Given the description of an element on the screen output the (x, y) to click on. 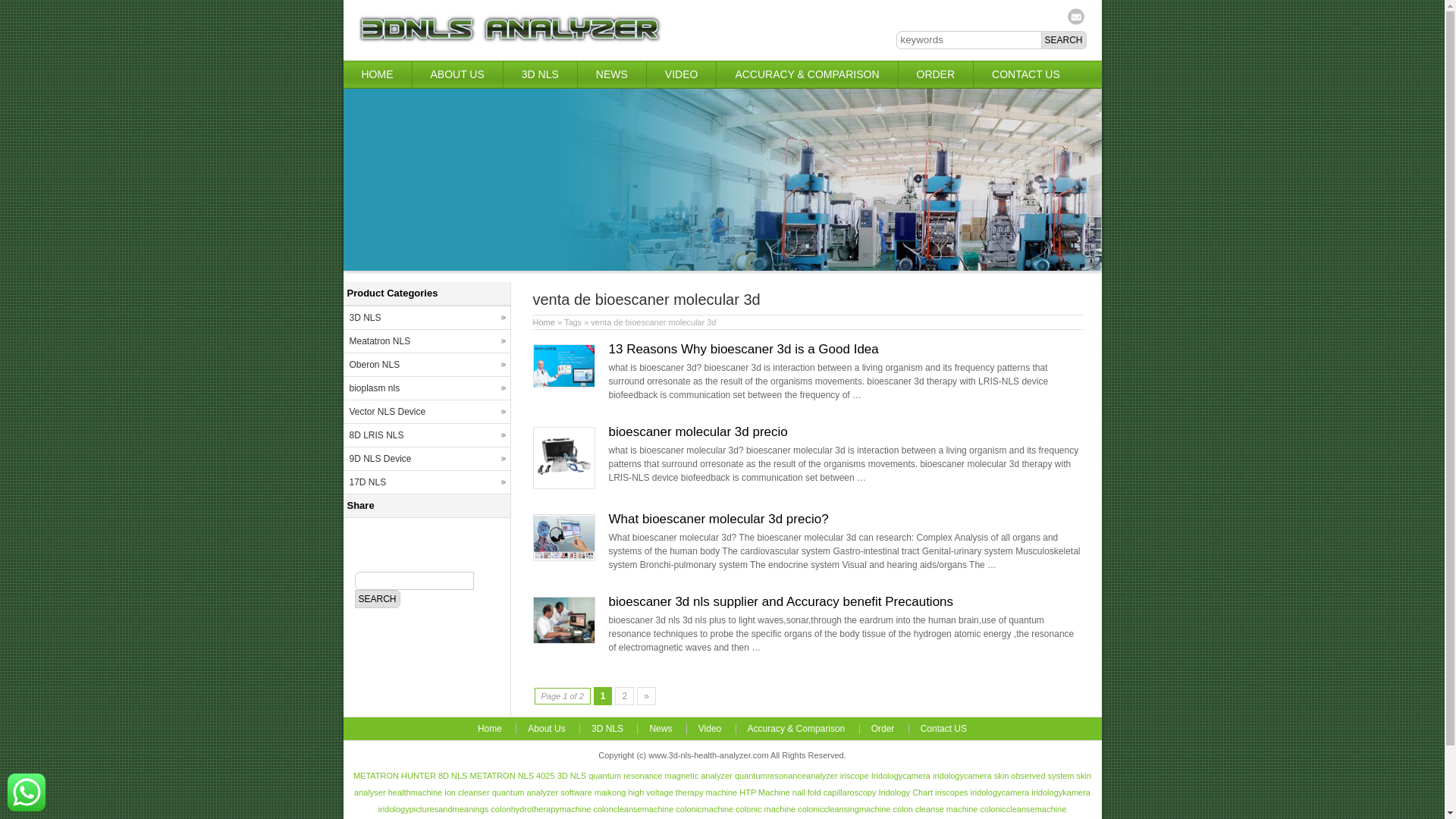
News Element type: text (660, 728)
HOME Element type: text (376, 74)
colonic machine Element type: text (765, 808)
Search Element type: text (377, 598)
2 Element type: text (624, 696)
nail fold capillaroscopy Element type: text (834, 792)
Iridologycamera Element type: text (900, 775)
colonicmachine Element type: text (704, 808)
Home Element type: text (543, 321)
bioescaner 3d nls supplier and Accuracy benefit Precautions Element type: text (780, 601)
skin analyser Element type: text (722, 784)
About Us Element type: text (545, 728)
colonhydrotherapymachine Element type: text (540, 808)
WhatsApp us Element type: hover (26, 792)
coloncleansemachine Element type: text (633, 808)
coloniccleansemachine Element type: text (1023, 808)
bioplasm nls Element type: text (425, 387)
METATRON HUNTER Element type: text (394, 775)
Home Element type: text (489, 728)
bioescaner molecular 3d precio Element type: text (697, 431)
bioescaner 3d nls supplier and Accuracy benefit Precautions Element type: hover (563, 640)
Video Element type: text (709, 728)
13 Reasons Why bioescaner 3d is a Good Idea Element type: text (743, 349)
ACCURACY & COMPARISON Element type: text (806, 74)
iridologycamera Element type: text (961, 775)
high voltage therapy machine Element type: text (682, 792)
Accuracy & Comparison Element type: text (795, 728)
colon cleanse machine Element type: text (935, 808)
quantum analyzer software Element type: text (542, 792)
iriscope Element type: text (854, 775)
17D NLS Element type: text (425, 481)
3D NLS Element type: text (571, 775)
Order Element type: text (882, 728)
Meatatron NLS Element type: text (425, 340)
ABOUT US Element type: text (457, 74)
ORDER Element type: text (934, 74)
iriscopes Element type: text (951, 792)
8D LRIS NLS Element type: text (425, 434)
iridologykamera Element type: text (1060, 792)
Iridology Chart Element type: text (905, 792)
Vector NLS Device Element type: text (425, 411)
VIDEO Element type: text (681, 74)
Search Element type: text (1062, 40)
CONTACT US Element type: text (1025, 74)
Contact US Element type: text (943, 728)
iridologypicturesandmeanings Element type: text (433, 808)
ion cleanser Element type: text (466, 792)
9D NLS Device Element type: text (425, 458)
skin observed system Element type: text (1034, 775)
METATRON NLS 4025 Element type: text (512, 775)
Oberon NLS Element type: text (425, 364)
3D NLS Element type: text (540, 74)
iridologycamera Element type: text (999, 792)
What bioescaner molecular 3d precio? Element type: text (718, 518)
quantum resonance magnetic analyzer Element type: text (660, 775)
8D NLS Element type: text (452, 775)
coloniccleansingmachine Element type: text (843, 808)
maikong Element type: text (610, 792)
healthmachine Element type: text (415, 792)
13 Reasons Why bioescaner 3d is a Good Idea Element type: hover (563, 384)
NEWS Element type: text (611, 74)
bioescaner molecular 3d precio Element type: hover (563, 485)
HTP Machine Element type: text (764, 792)
What bioescaner molecular 3d precio? Element type: hover (563, 557)
quantumresonanceanalyzer Element type: text (785, 775)
3D NLS Element type: text (606, 728)
3D NLS Element type: text (425, 317)
